Given the description of an element on the screen output the (x, y) to click on. 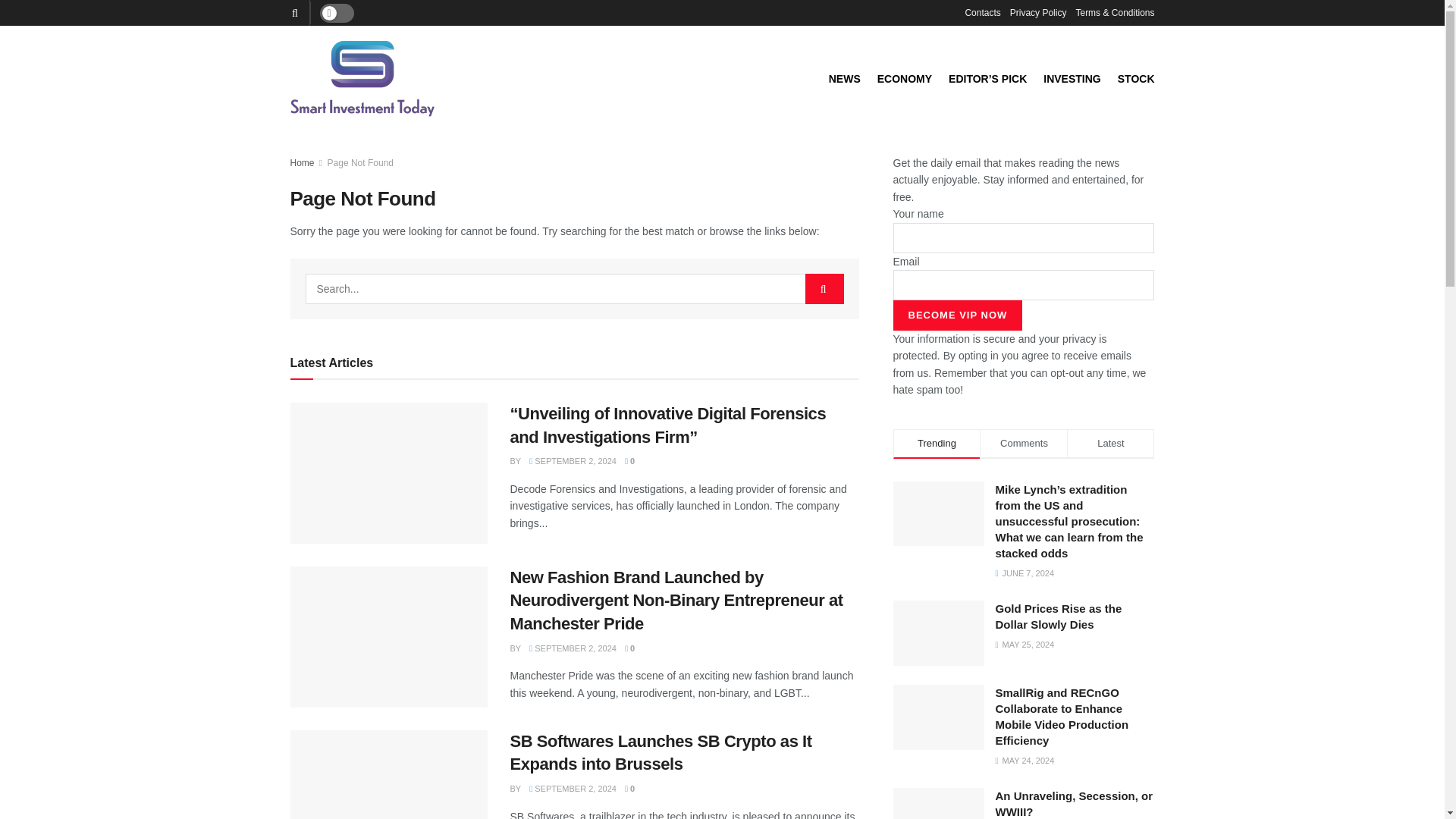
SEPTEMBER 2, 2024 (572, 461)
STOCK (1136, 78)
SEPTEMBER 2, 2024 (572, 788)
0 (629, 647)
Home (301, 163)
Contacts (981, 12)
ECONOMY (904, 78)
0 (629, 788)
SB Softwares Launches SB Crypto as It Expands into Brussels (659, 752)
